Given the description of an element on the screen output the (x, y) to click on. 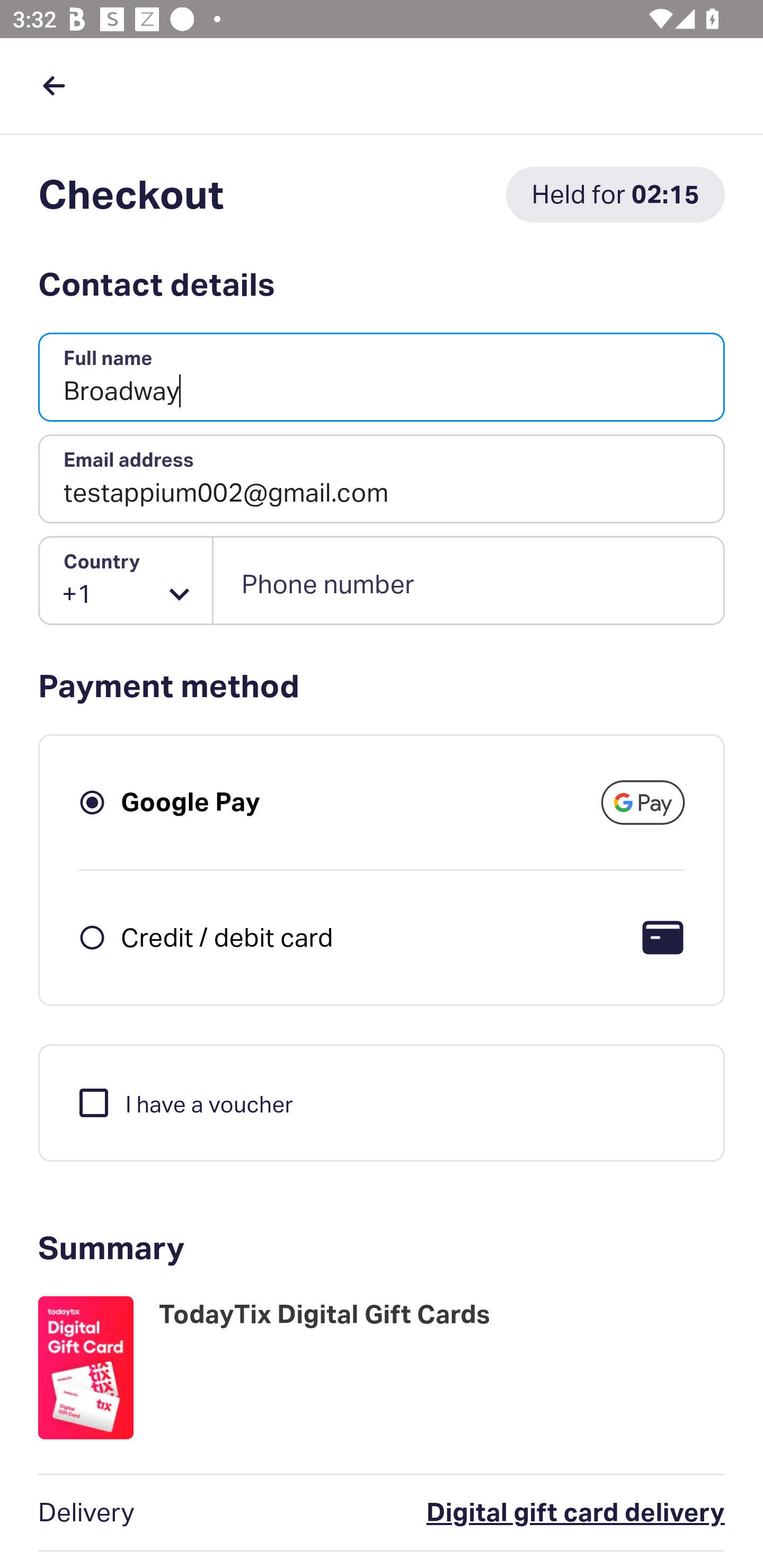
back button (53, 85)
Broadway (381, 377)
testappium002@gmail.com (381, 478)
  +1 (126, 580)
Google Pay (190, 802)
Credit / debit card (227, 936)
I have a voucher (183, 1101)
Digital gift card delivery (495, 1512)
